Given the description of an element on the screen output the (x, y) to click on. 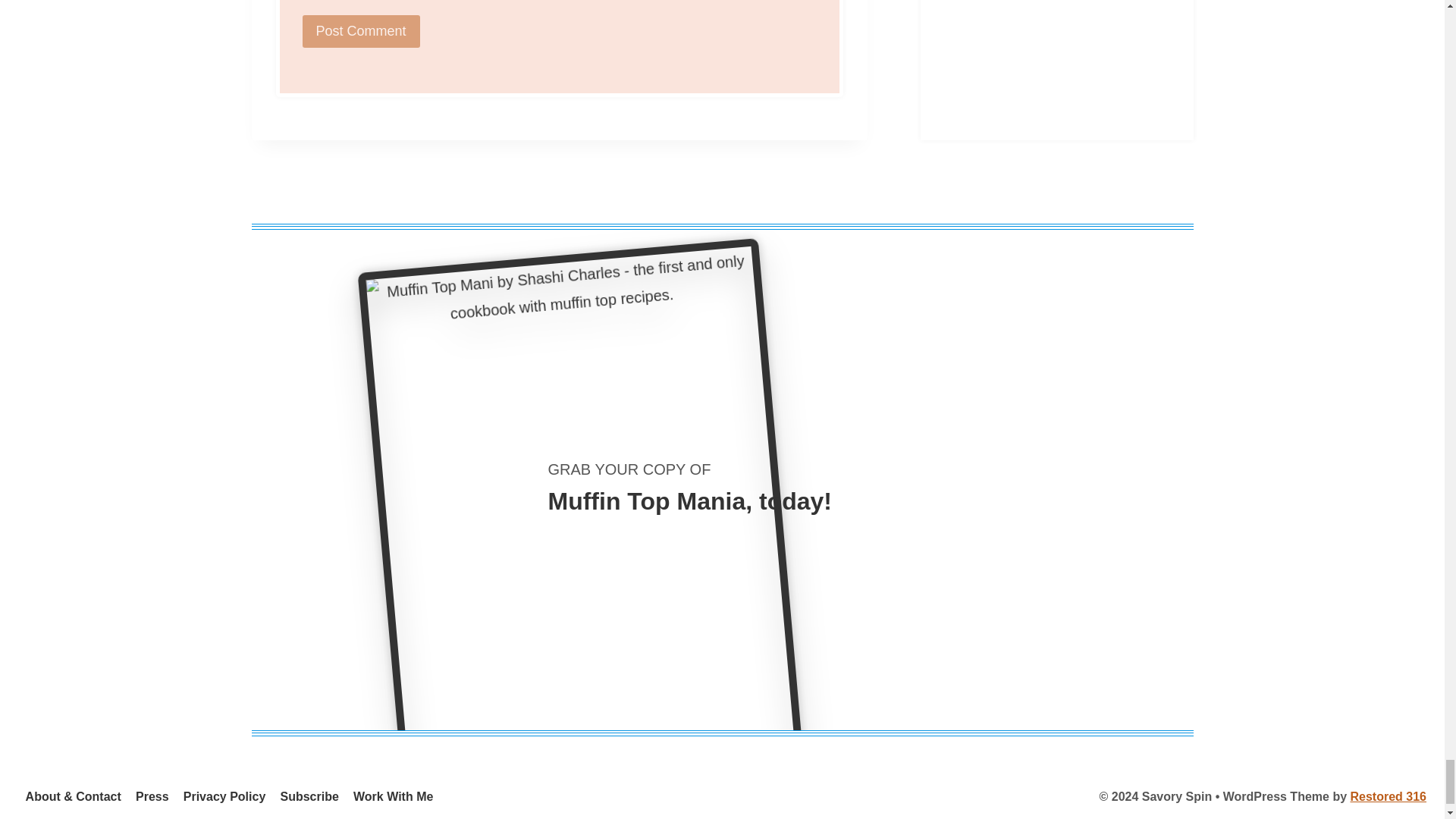
Post Comment (360, 31)
